Given the description of an element on the screen output the (x, y) to click on. 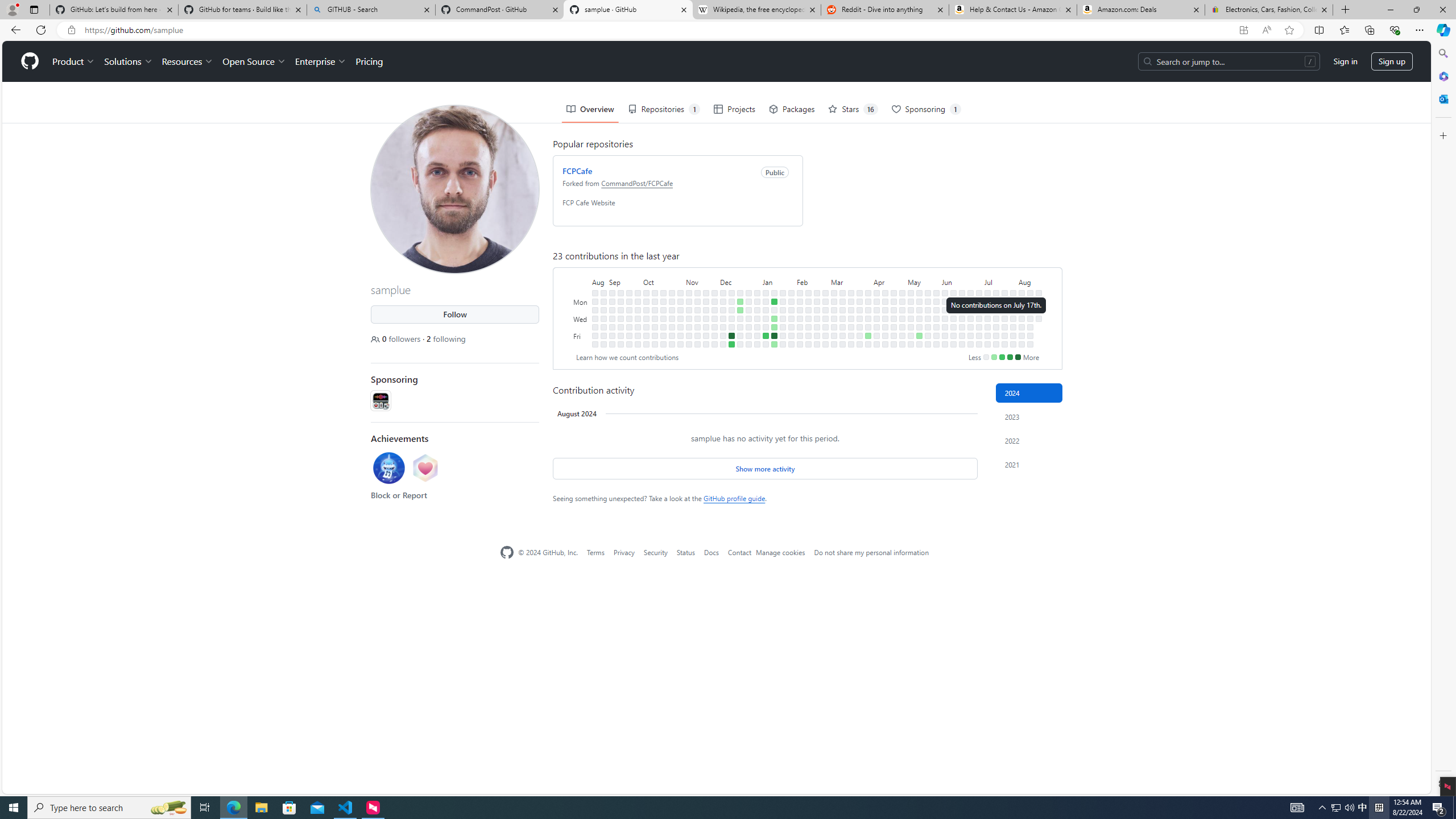
No contributions on February 27th. (825, 309)
Status (684, 551)
View samplue's full-sized avatar (454, 188)
Stars 16 (853, 108)
No contributions on February 7th. (799, 318)
Contact (739, 551)
No contributions on November 2nd. (680, 326)
No contributions on February 9th. (799, 335)
No contributions on July 25th. (1004, 326)
No contributions on February 11th. (807, 292)
No contributions on December 24th. (748, 292)
No contributions on July 12th. (987, 335)
No contributions on November 12th. (697, 292)
No contributions on December 8th. (723, 335)
